Given the description of an element on the screen output the (x, y) to click on. 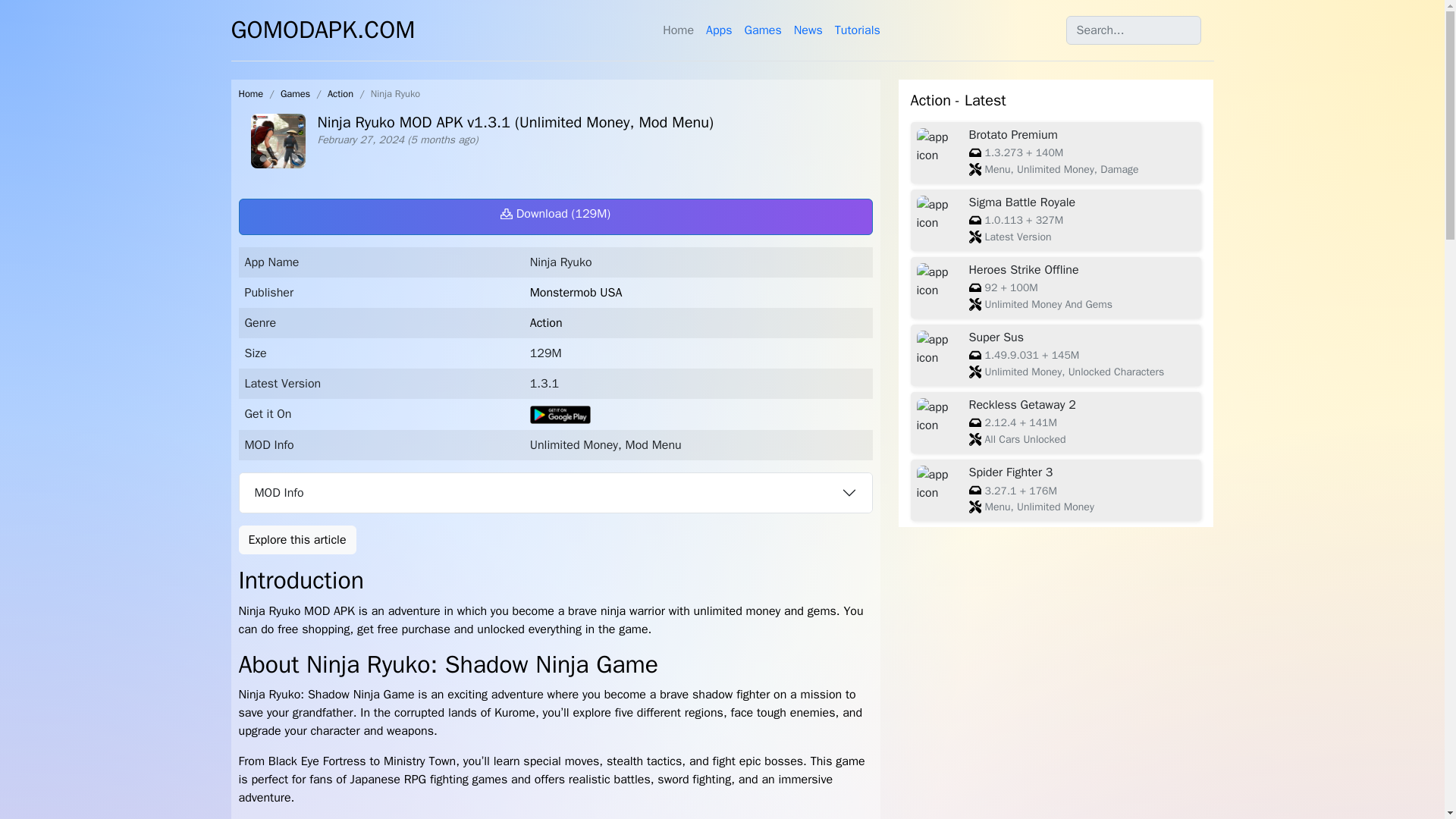
Action (545, 322)
Home (250, 93)
GOMODAPK.COM (322, 30)
Home (678, 30)
Monstermob USA (576, 292)
Tutorials (857, 30)
Action (340, 93)
Home (250, 93)
Games (295, 93)
Explore this article (296, 539)
MOD Info (556, 492)
Apps (719, 30)
News (807, 30)
Games (762, 30)
